Given the description of an element on the screen output the (x, y) to click on. 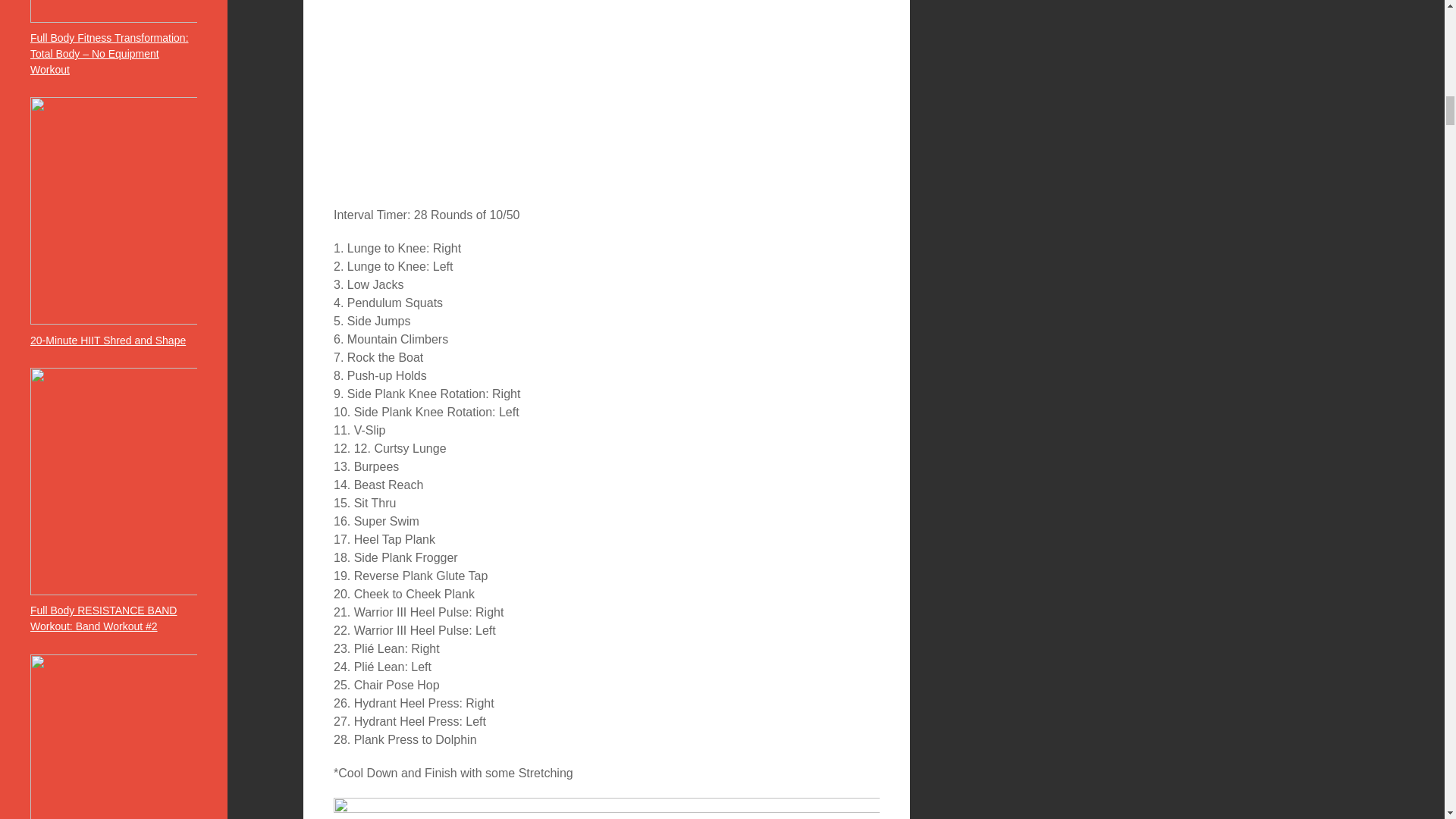
20-Minute HIIT Shred and Shape (108, 340)
